Given the description of an element on the screen output the (x, y) to click on. 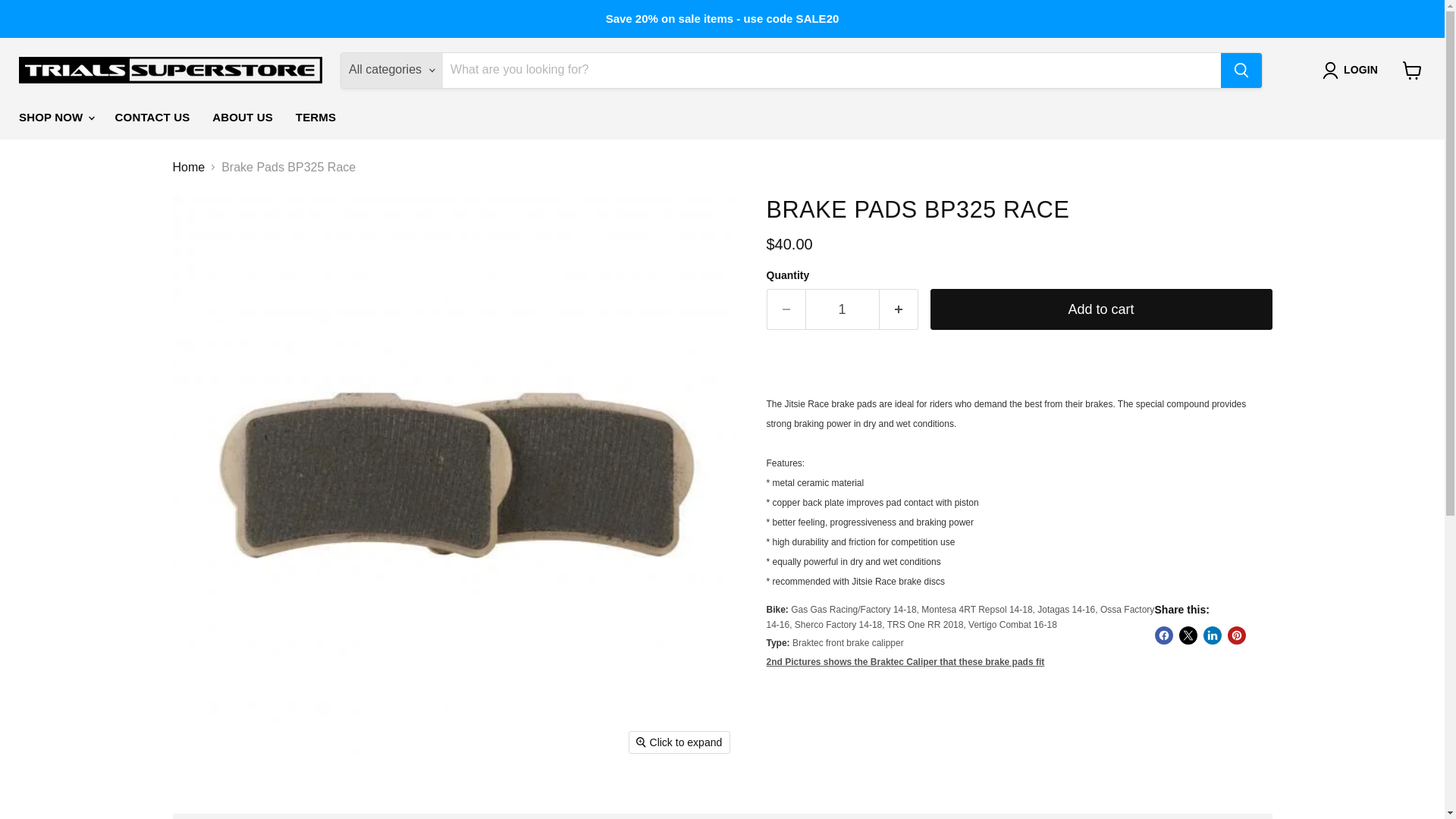
1 (842, 309)
CONTACT US (152, 117)
TERMS (315, 117)
LOGIN (1353, 70)
ABOUT US (241, 117)
View cart (1411, 69)
